Given the description of an element on the screen output the (x, y) to click on. 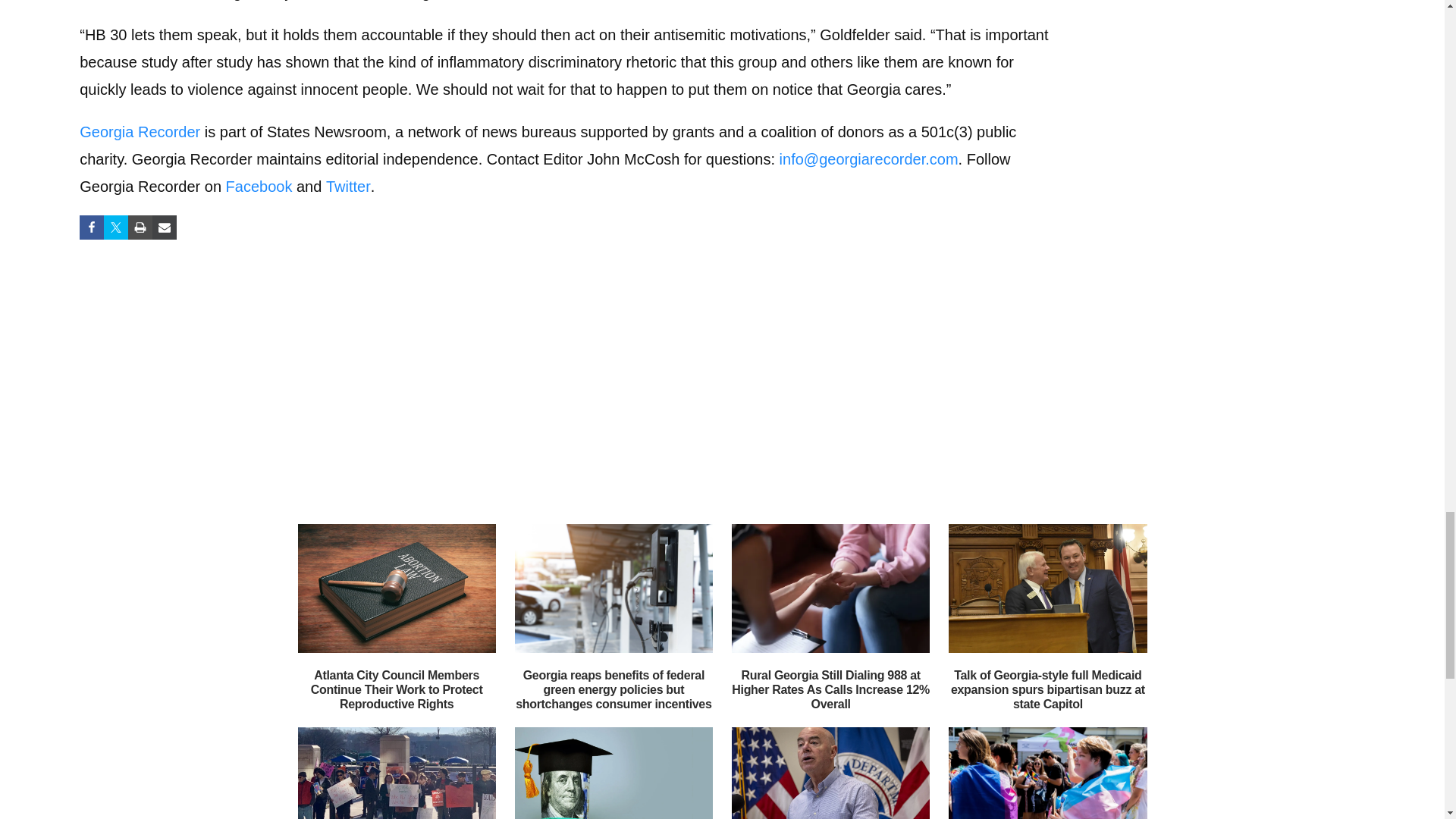
Share via Email (164, 227)
Print this Page (140, 227)
Share on Facebook (91, 227)
Facebook (258, 186)
Georgia Recorder (140, 131)
Twitter (348, 186)
Share on Twitter (115, 227)
